Given the description of an element on the screen output the (x, y) to click on. 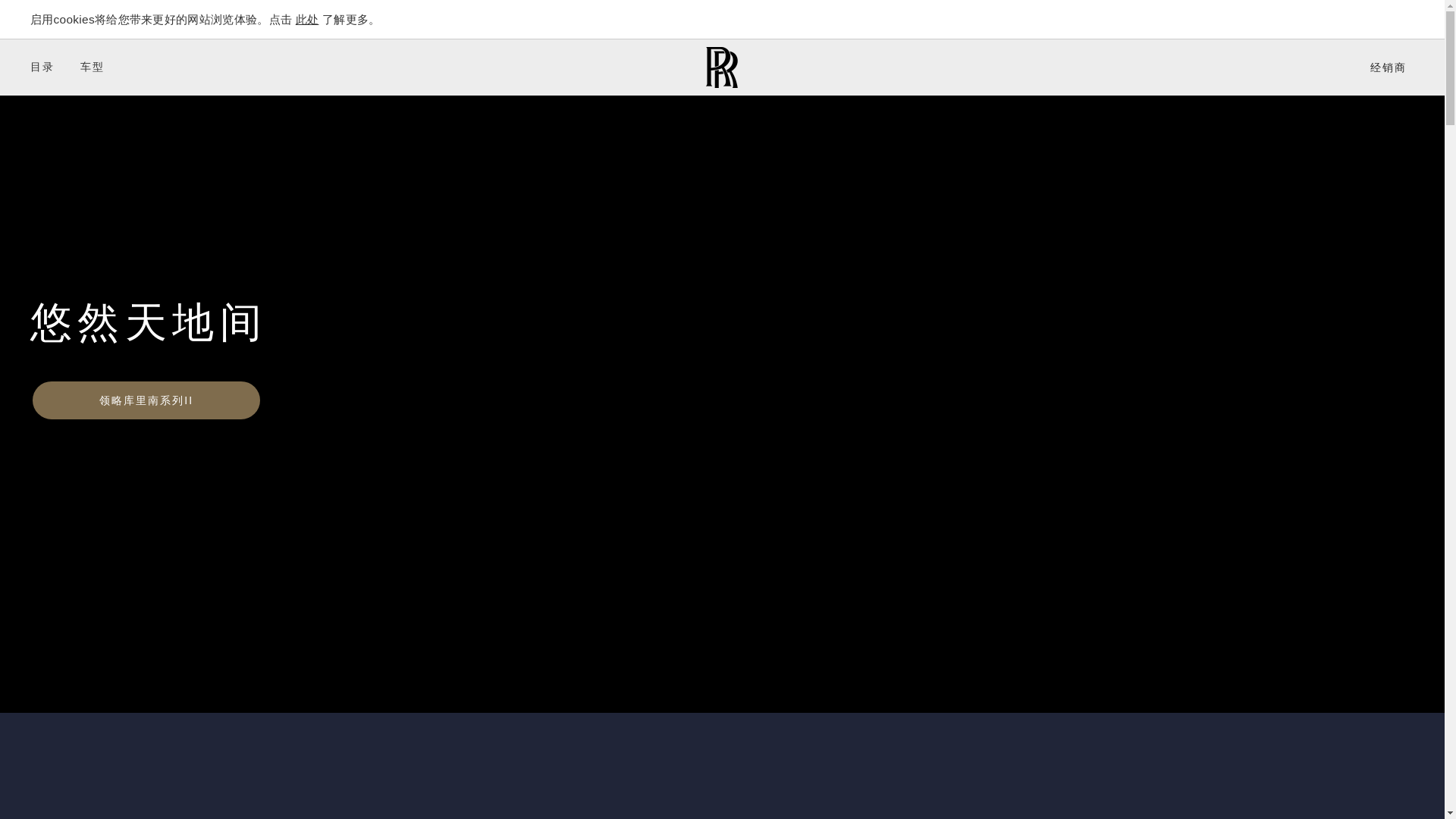
ROLLS-ROYCE (722, 66)
